Given the description of an element on the screen output the (x, y) to click on. 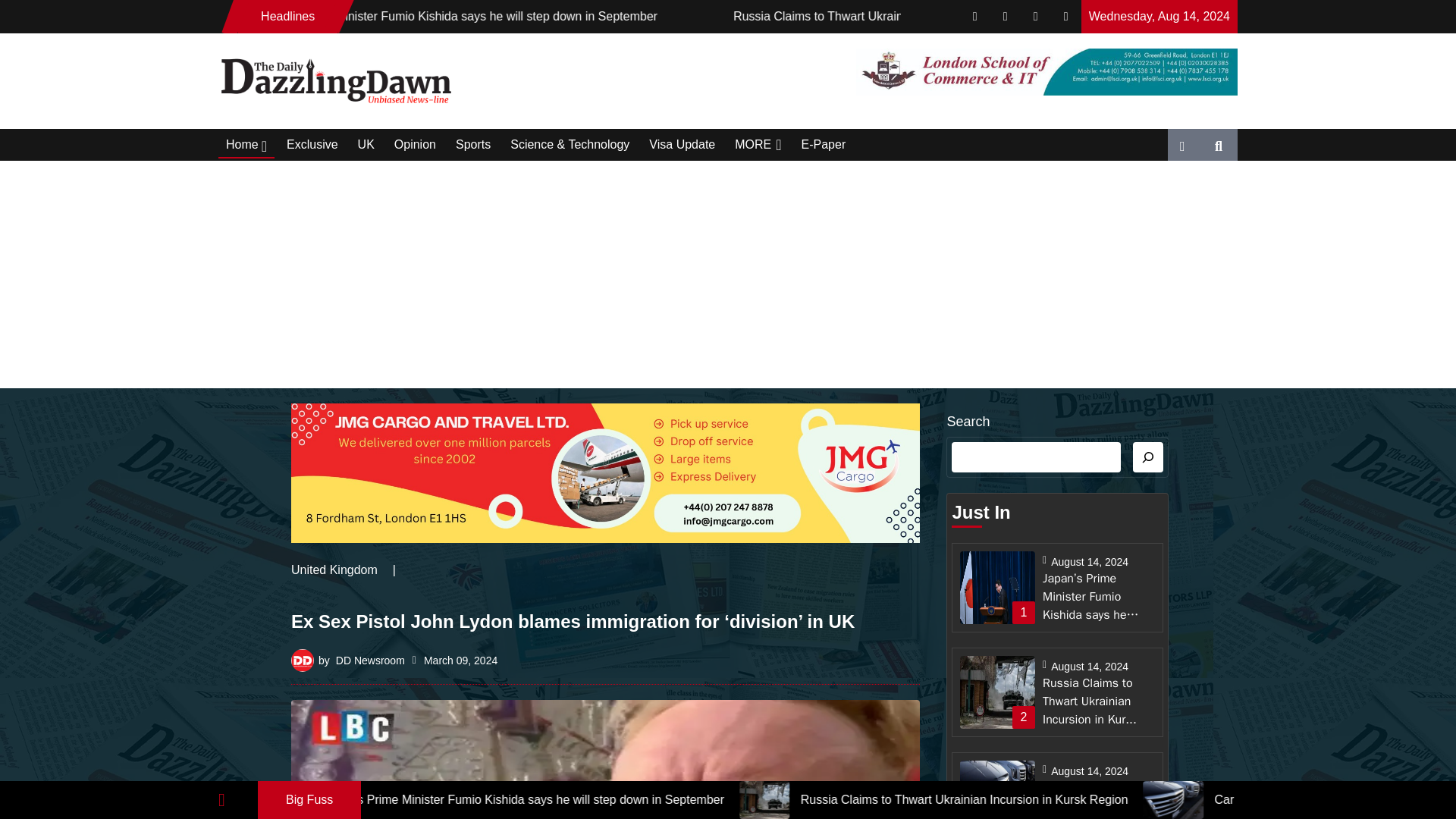
Opinion (414, 144)
Russia Claims to Thwart Ukrainian Incursion in Kursk Region (994, 16)
Home (246, 144)
Russia Claims to Thwart Ukrainian Incursion in Kursk Region (1069, 800)
UK (366, 144)
Headlines (287, 16)
Exclusive (311, 144)
